Given the description of an element on the screen output the (x, y) to click on. 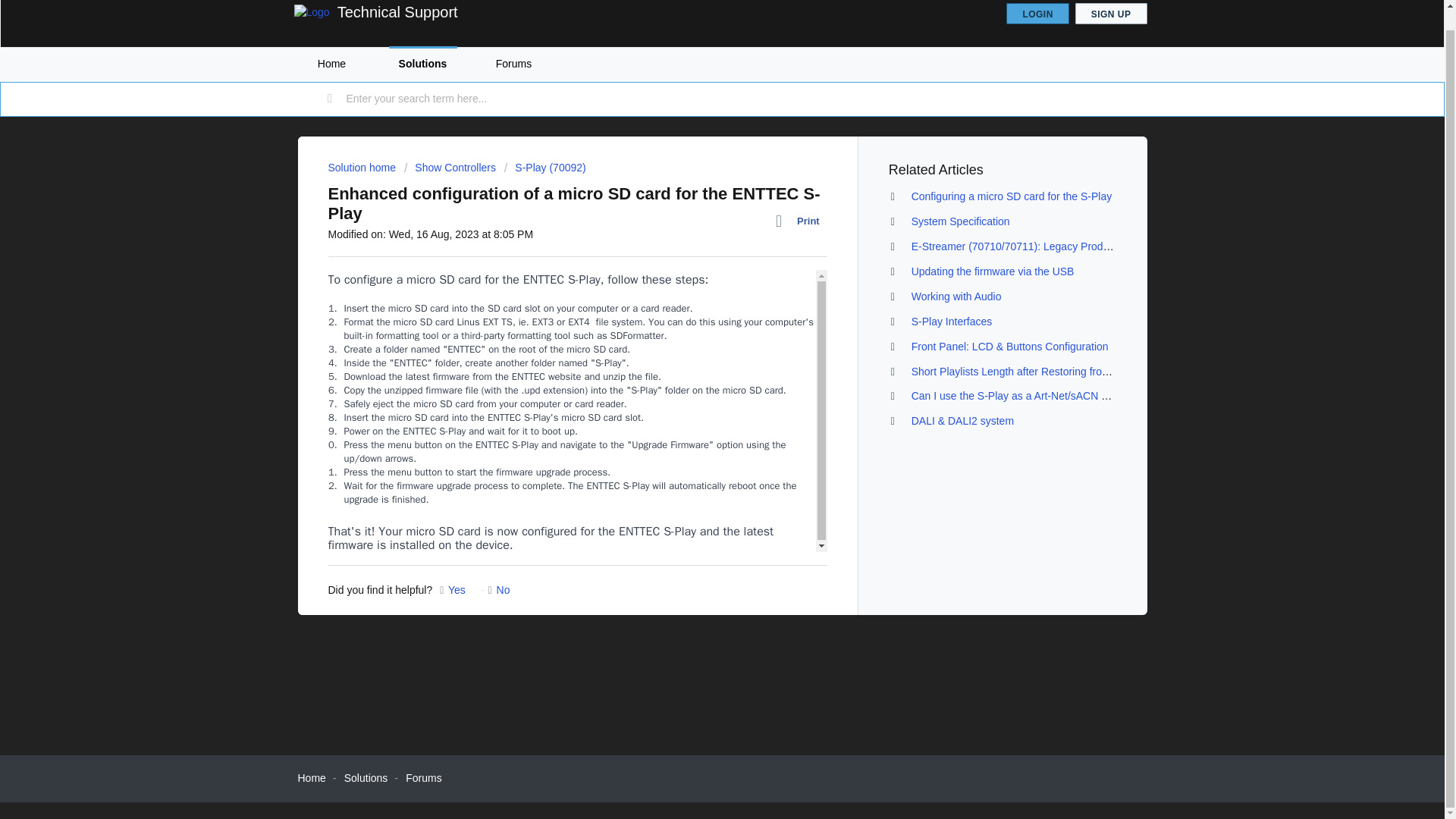
Print this Article (801, 220)
Configuring a micro SD card for the S-Play (1011, 196)
S-Play Interfaces (951, 321)
Chat (1406, 759)
System Specification (960, 221)
Solution home (362, 167)
Home (331, 63)
Updating the firmware via the USB (992, 271)
Solutions (365, 777)
Solutions (422, 63)
